Given the description of an element on the screen output the (x, y) to click on. 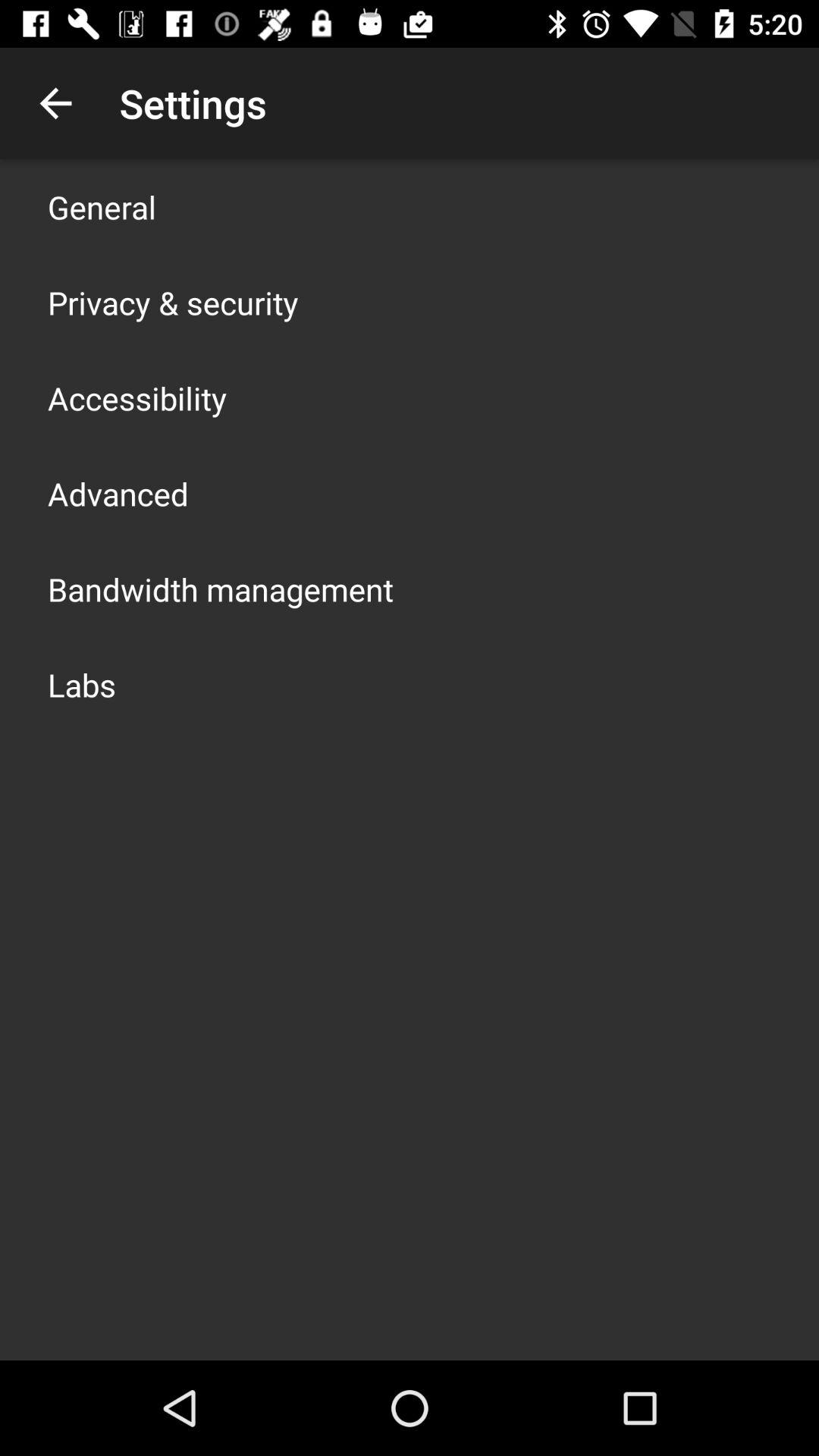
turn on the advanced item (117, 493)
